Given the description of an element on the screen output the (x, y) to click on. 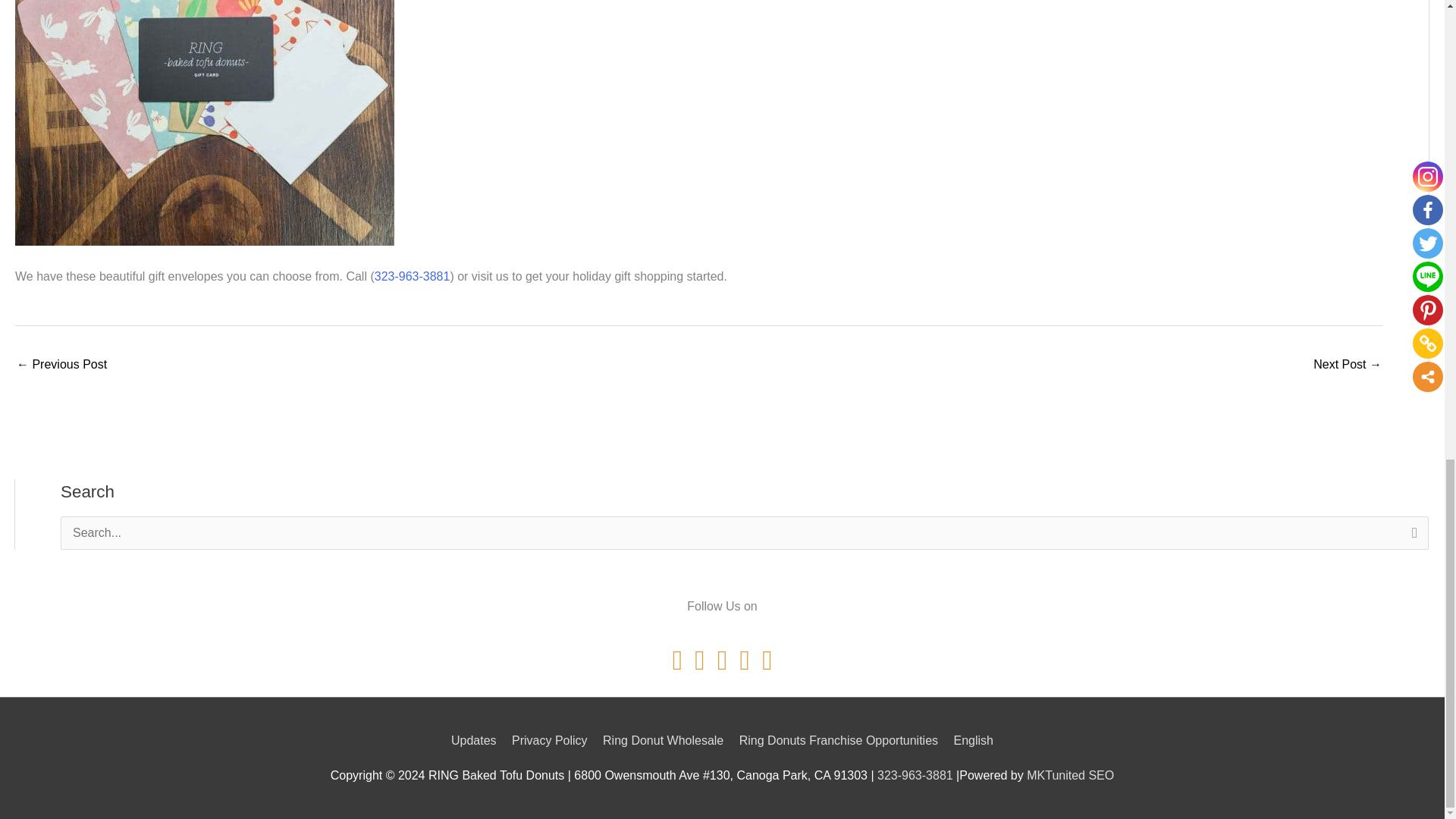
English (969, 740)
RING Baked Tofu Donuts on DTLA Donut Fest (61, 366)
English (969, 740)
323-963-3881 (411, 276)
Ring Donut Wholesale (662, 739)
Thanksgiving Holiday business hours (1347, 366)
Ring Donuts Franchise Opportunities (838, 739)
Privacy Policy (549, 739)
Updates (476, 739)
